Given the description of an element on the screen output the (x, y) to click on. 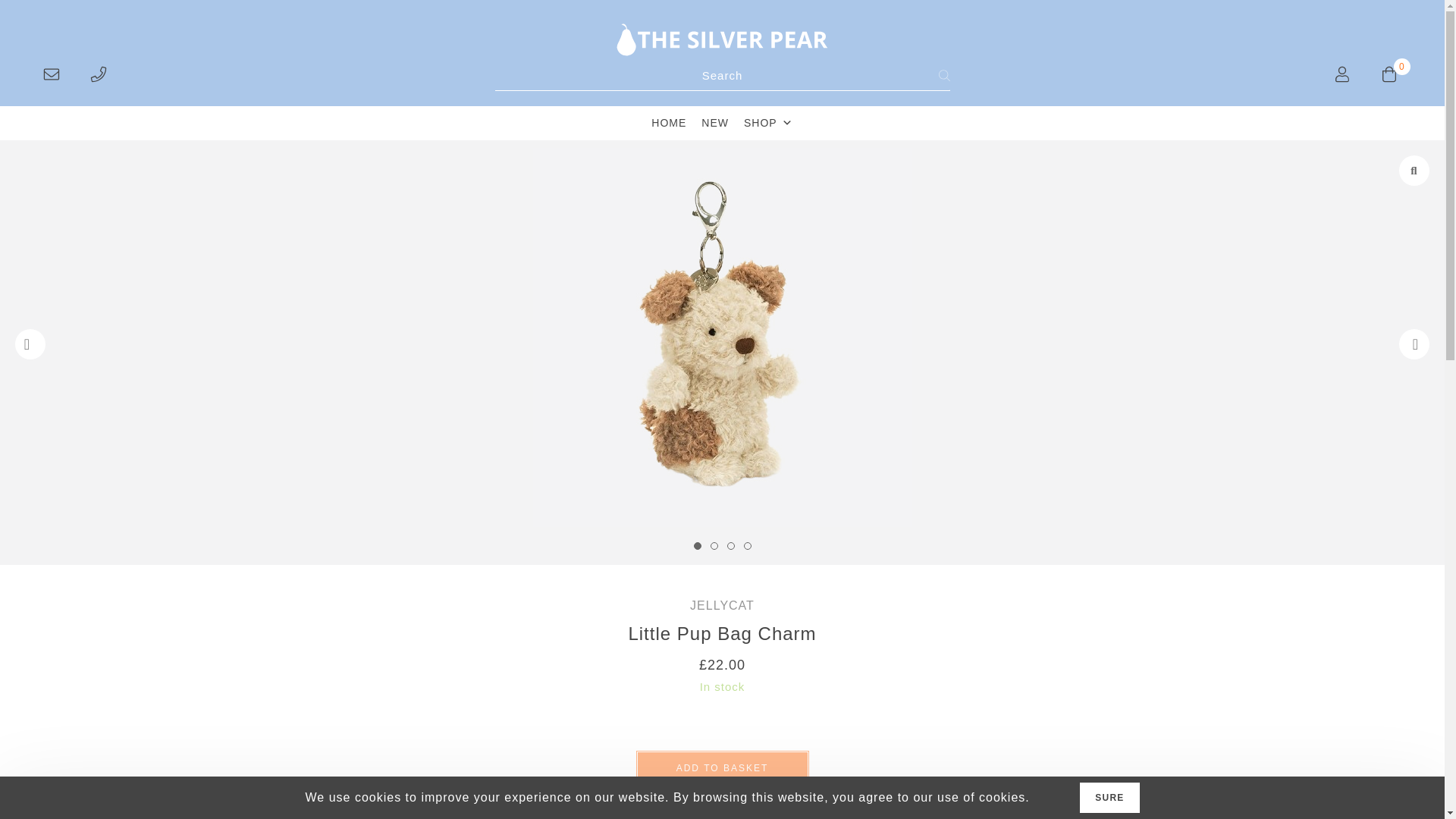
HOME (668, 123)
0 (1390, 73)
SHOP (768, 123)
NEW (715, 123)
